Given the description of an element on the screen output the (x, y) to click on. 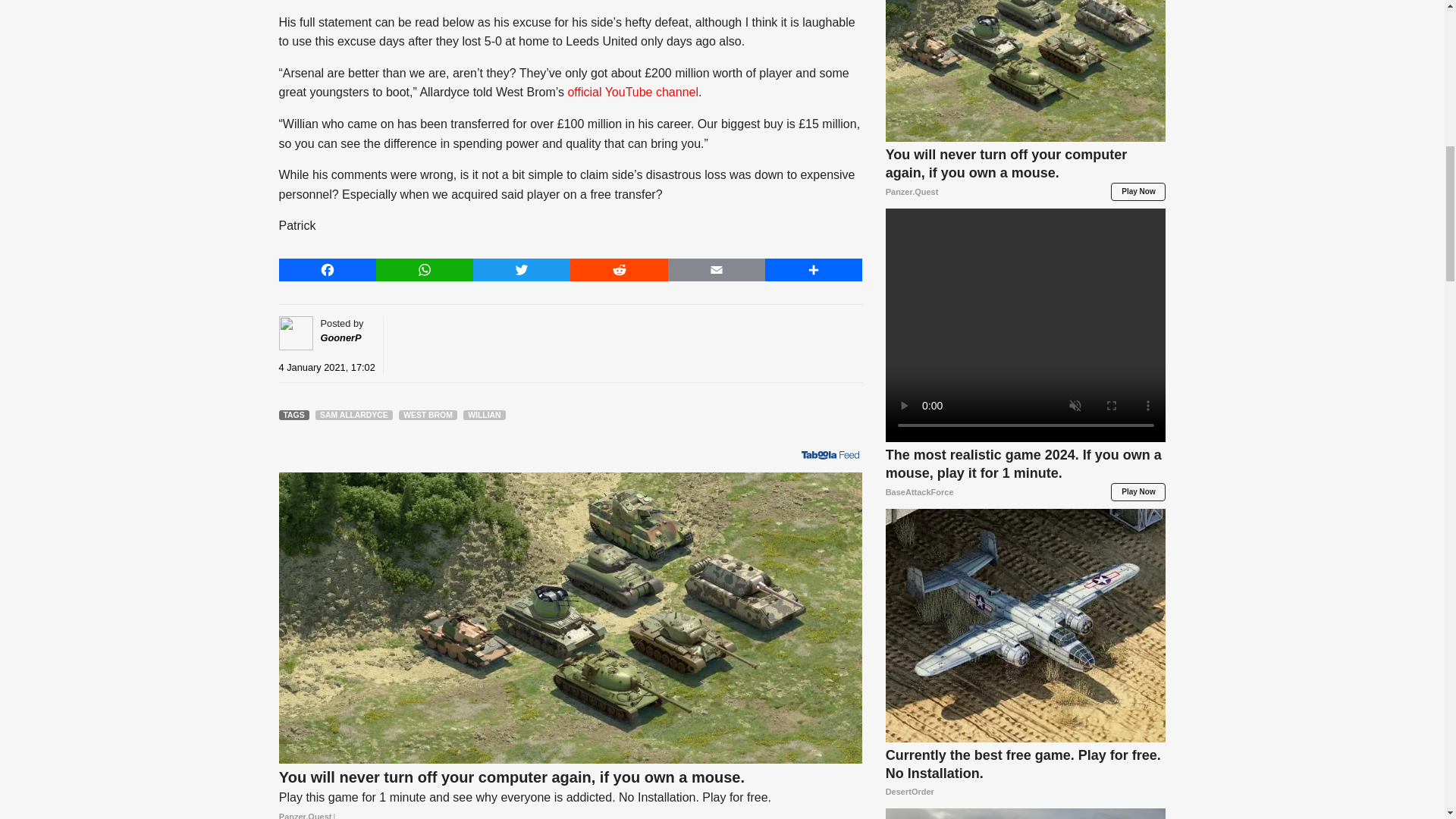
Reddit (618, 269)
Facebook (327, 269)
WhatsApp (424, 269)
Facebook (327, 269)
Twitter (521, 269)
Twitter (521, 269)
GoonerP (340, 337)
4 January 2021, 17:02 (327, 367)
Reddit (618, 269)
WhatsApp (424, 269)
official YouTube channel (632, 91)
Email (716, 269)
